Given the description of an element on the screen output the (x, y) to click on. 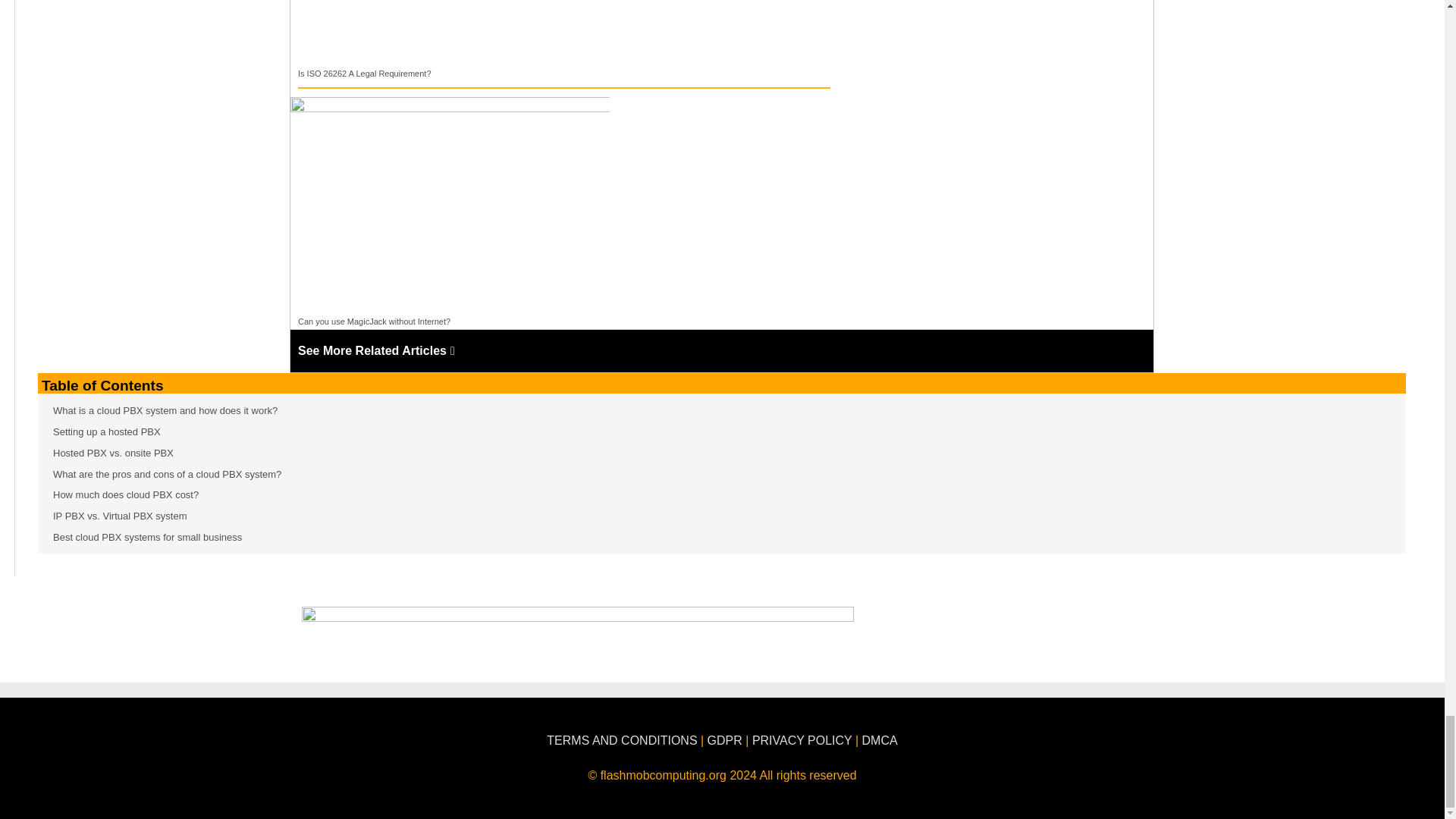
Setting up a hosted PBX (102, 432)
IP PBX vs. Virtual PBX system (116, 516)
Hosted PBX vs. onsite PBX (109, 453)
TERMS AND CONDITIONS (622, 739)
How much does cloud PBX cost? (121, 495)
What are the pros and cons of a cloud PBX system? (163, 474)
GDPR (724, 739)
Is ISO 26262 A Legal Requirement? (364, 72)
See More Related Articles (375, 350)
Best cloud PBX systems for small business (143, 537)
